Given the description of an element on the screen output the (x, y) to click on. 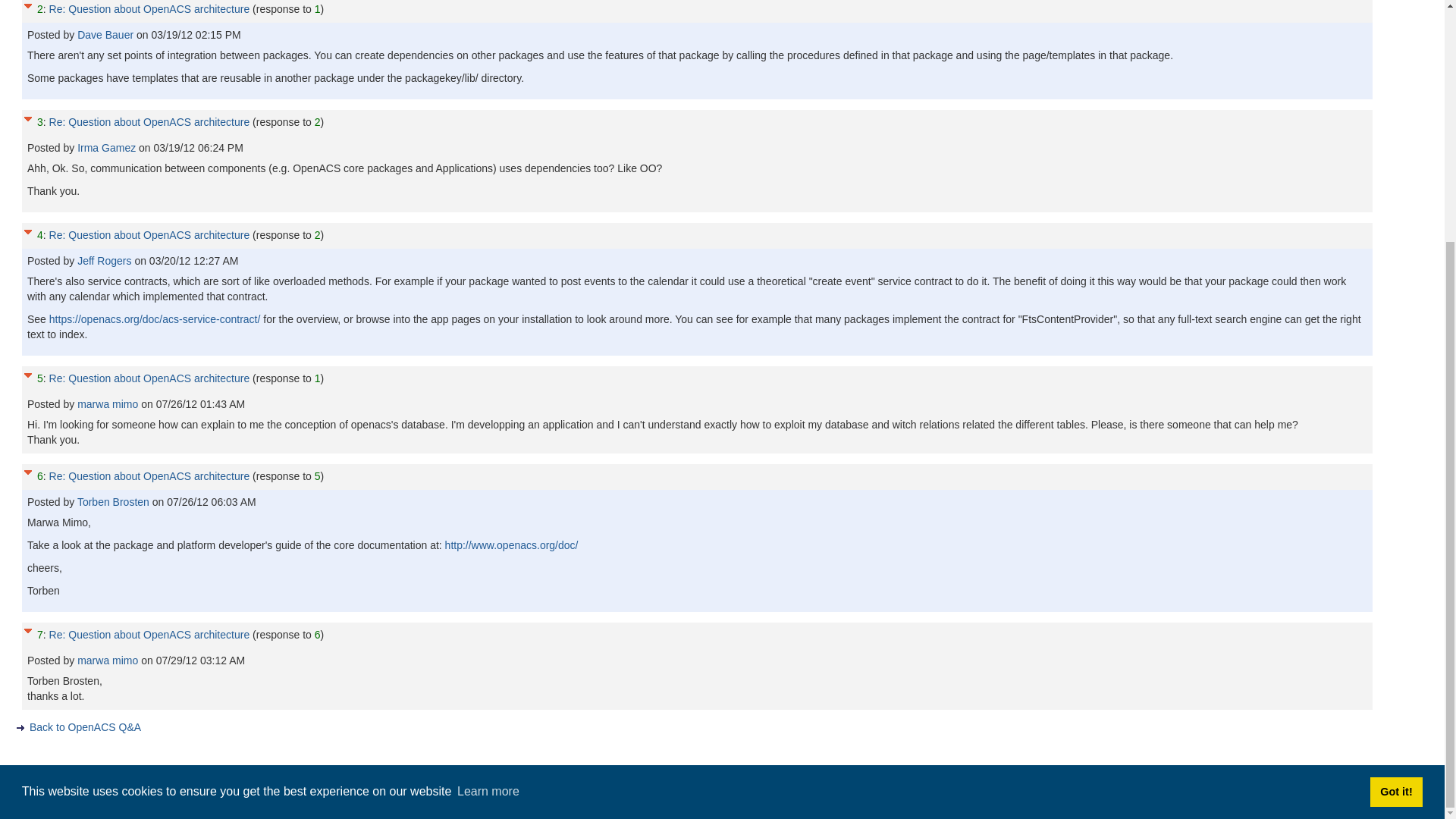
Learn more (487, 456)
Got it! (1396, 457)
Link to this post on a separate page (149, 9)
Re: Question about OpenACS architecture (149, 121)
Re: Question about OpenACS architecture (149, 234)
Re: Question about OpenACS architecture (149, 9)
Show Dave Bauer posting history (106, 34)
Jeff Rogers (105, 260)
Collapse message (27, 6)
Dave Bauer (106, 34)
